Given the description of an element on the screen output the (x, y) to click on. 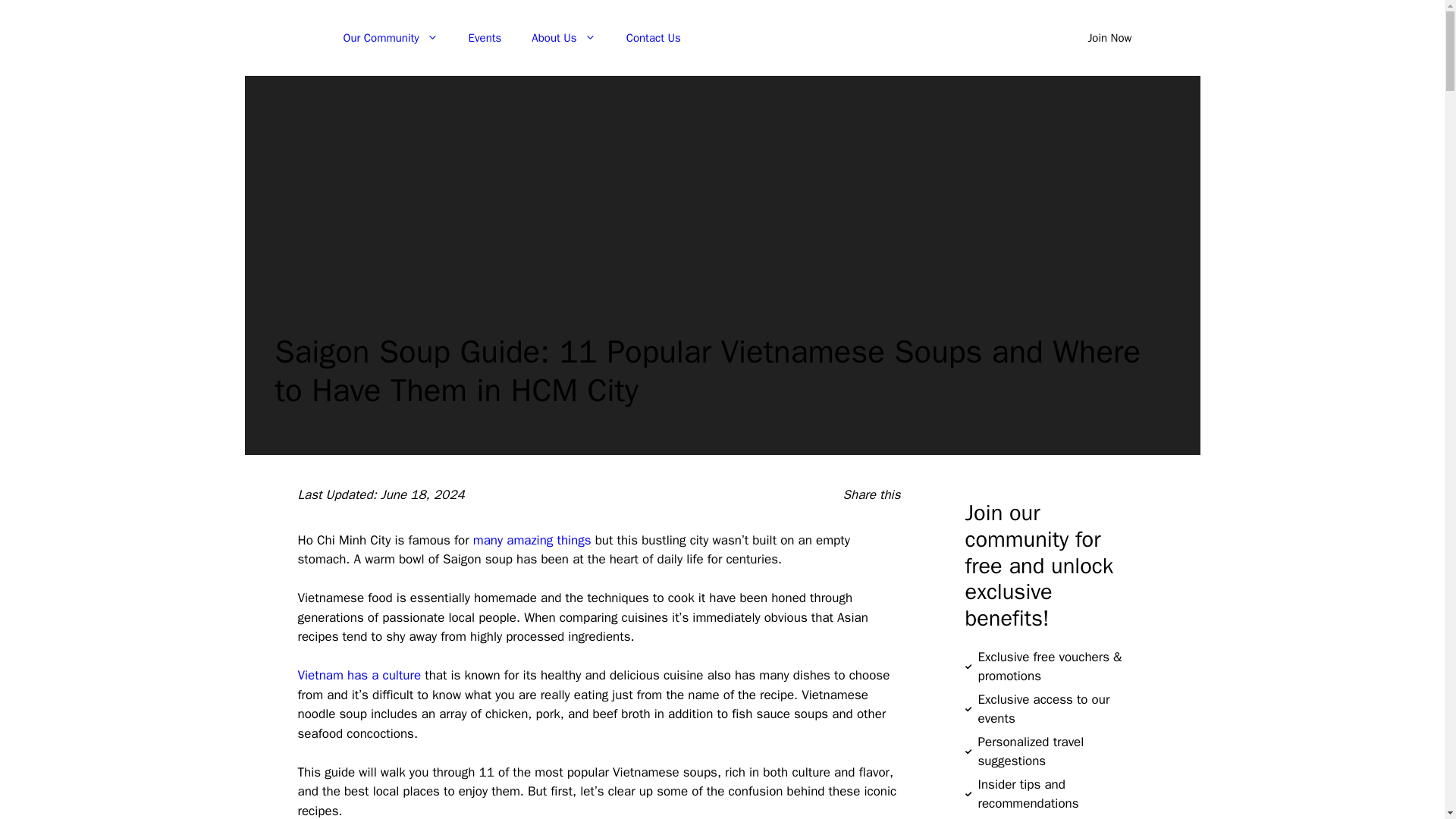
many amazing things (532, 539)
Events (484, 37)
Contact Us (653, 37)
About Us (563, 37)
Our Community (389, 37)
Join Now (1109, 38)
Vietnam has a culture (358, 675)
